Given the description of an element on the screen output the (x, y) to click on. 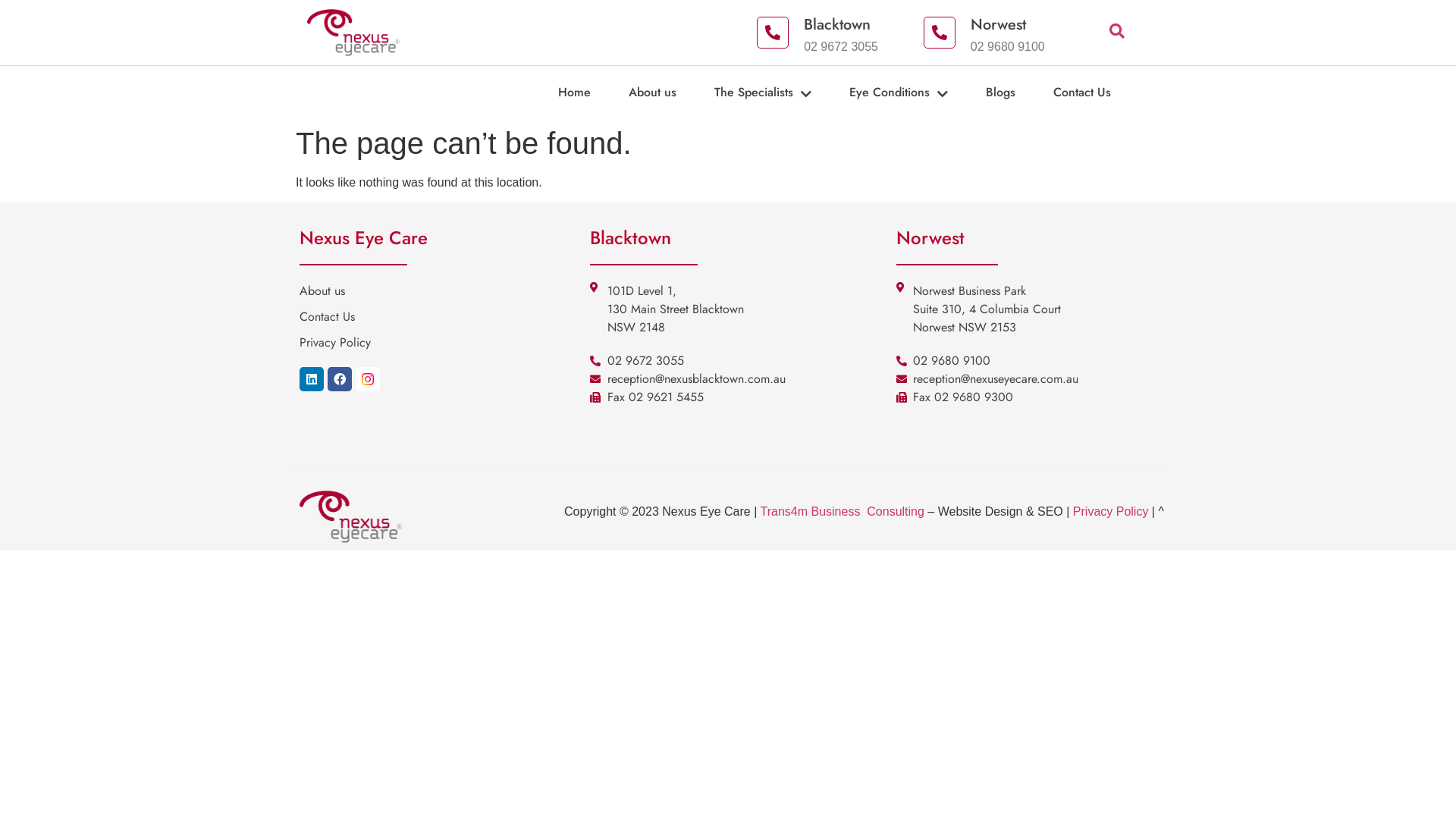
Contact Us Element type: text (1100, 92)
02 9672 3055 Element type: text (730, 360)
Trans4m Business  Consulting Element type: text (843, 511)
reception@nexusblacktown.com.au Element type: text (730, 379)
Eye Conditions Element type: text (917, 92)
The Specialists Element type: text (781, 92)
Blogs Element type: text (1019, 92)
About us Element type: text (440, 291)
Contact Us Element type: text (440, 316)
Privacy Policy Element type: text (440, 342)
02 9680 9100 Element type: text (1030, 360)
Privacy Policy Element type: text (1110, 511)
Norwest Element type: text (998, 24)
Blacktown Element type: text (836, 24)
Home Element type: text (593, 92)
About us Element type: text (671, 92)
reception@nexuseyecare.com.au Element type: text (1030, 379)
